Given the description of an element on the screen output the (x, y) to click on. 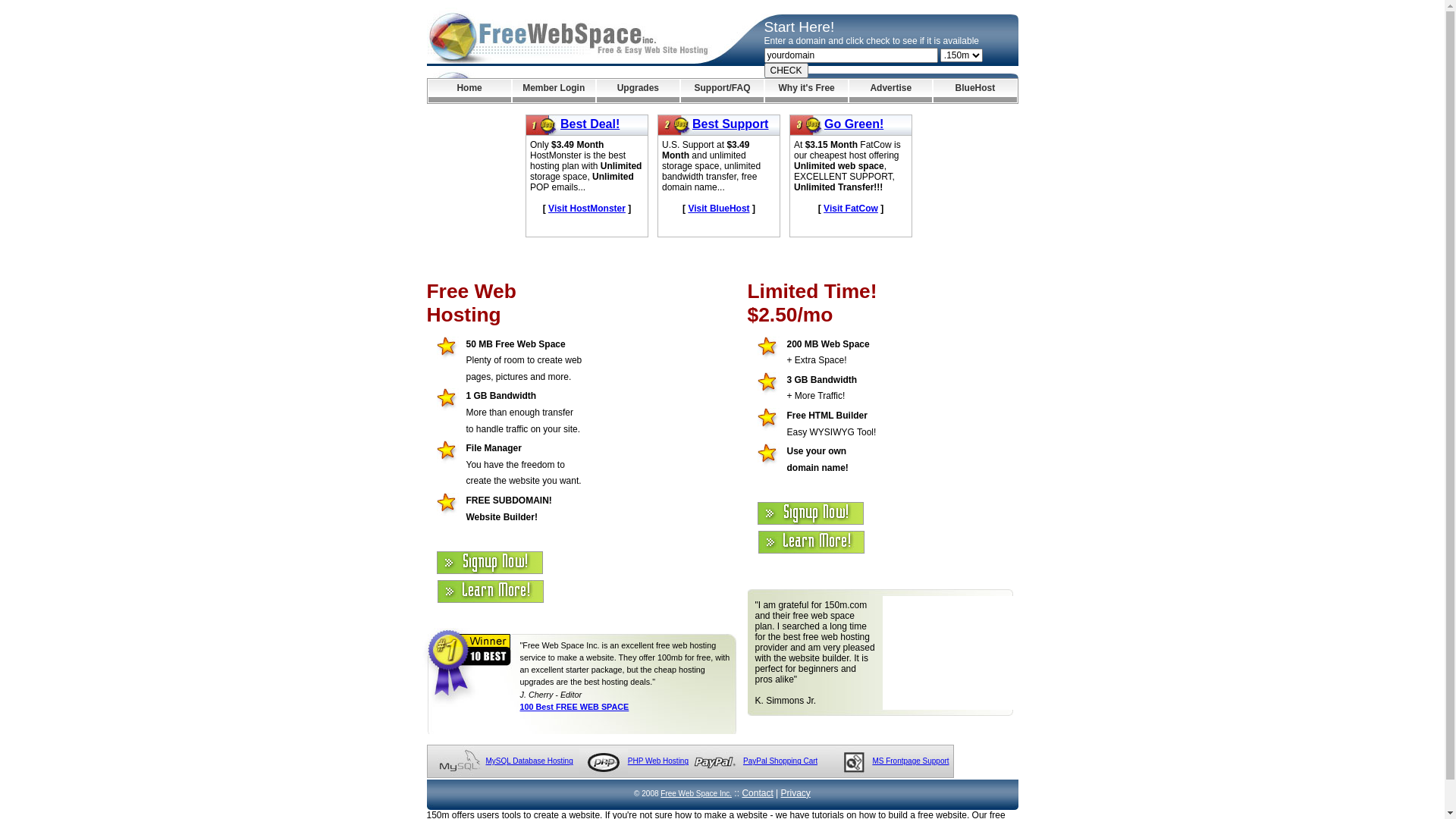
Privacy Element type: text (795, 792)
MySQL Database Hosting Element type: text (528, 760)
Upgrades Element type: text (637, 90)
Why it's Free Element type: text (806, 90)
PayPal Shopping Cart Element type: text (780, 760)
Member Login Element type: text (553, 90)
PHP Web Hosting Element type: text (657, 760)
MS Frontpage Support Element type: text (910, 760)
Support/FAQ Element type: text (721, 90)
CHECK Element type: text (786, 70)
Advertise Element type: text (890, 90)
BlueHost Element type: text (974, 90)
100 Best FREE WEB SPACE Element type: text (574, 706)
Free Web Space Inc. Element type: text (695, 793)
Contact Element type: text (756, 792)
Home Element type: text (468, 90)
